Given the description of an element on the screen output the (x, y) to click on. 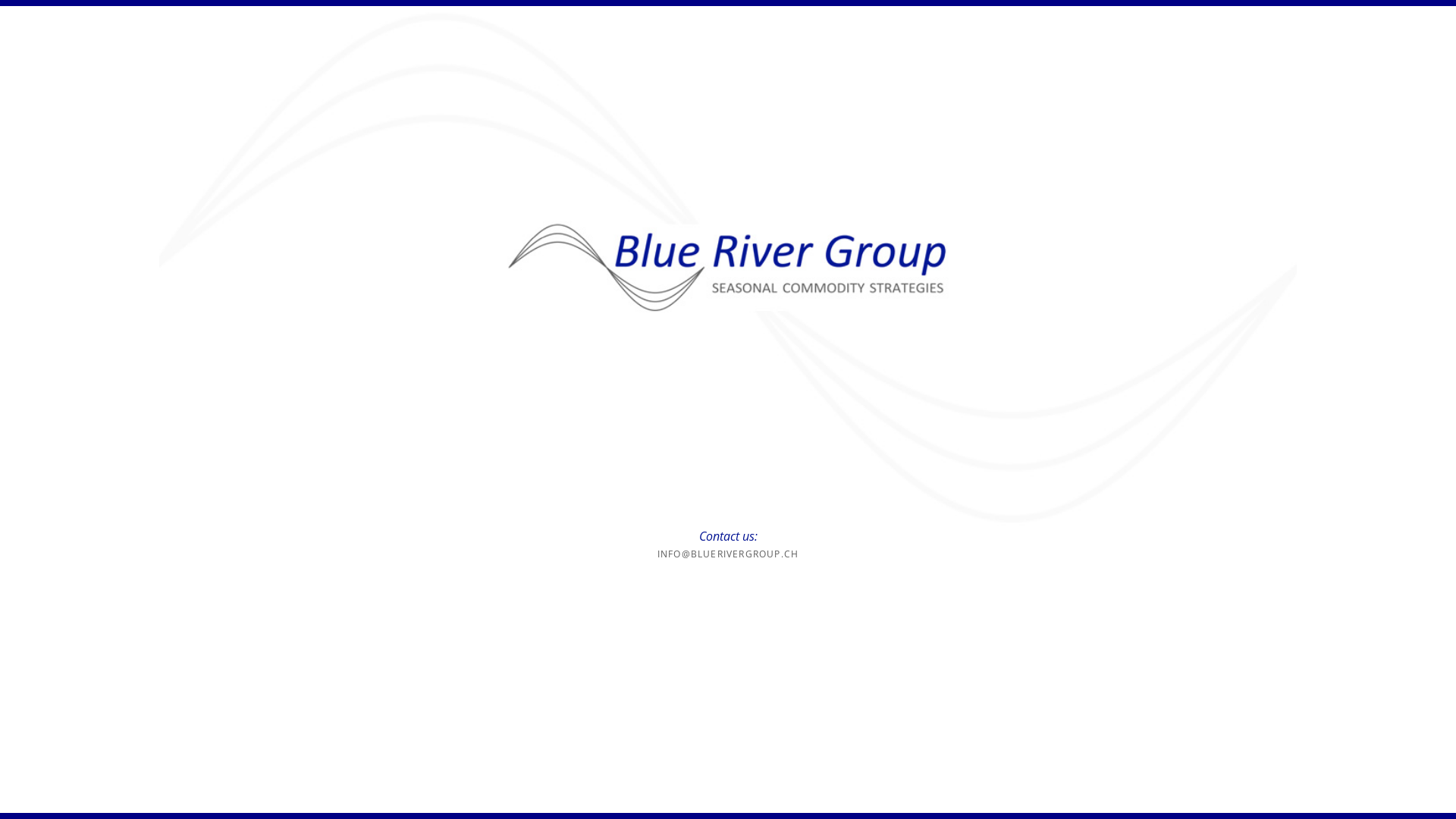
INFO@BLUERIVERGROUP.CH Element type: text (727, 553)
Blue River Group - Seasonal Commodity Strategies Element type: hover (727, 263)
